Given the description of an element on the screen output the (x, y) to click on. 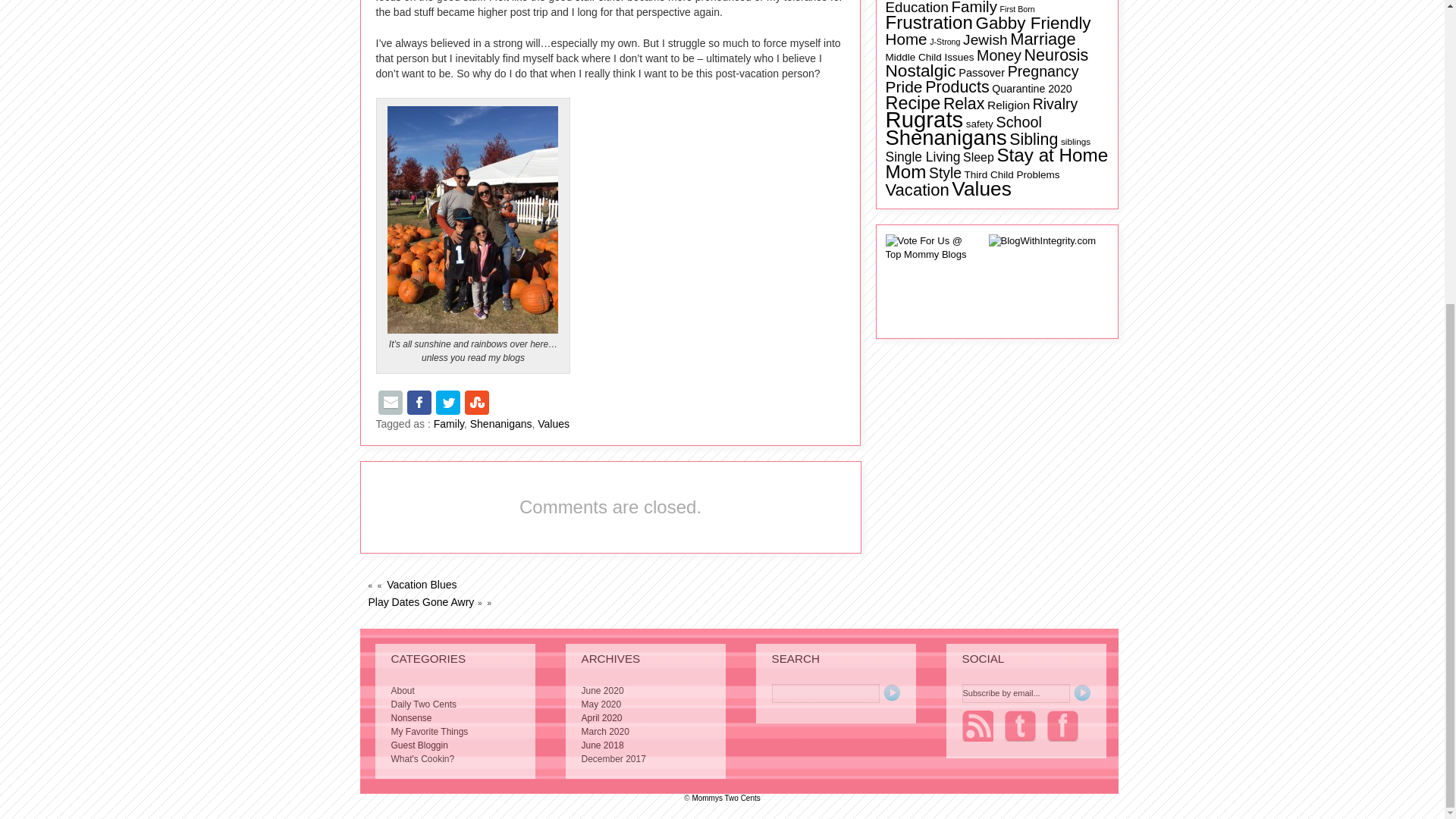
Subscribe by email... (1014, 692)
21 topics (917, 7)
Middle Child Issues (929, 57)
J-Strong (944, 40)
Shenanigans (501, 423)
2 topics (1015, 8)
34 topics (906, 38)
53 topics (1032, 22)
Products (956, 86)
Play Dates Gone Awry (421, 602)
